Given the description of an element on the screen output the (x, y) to click on. 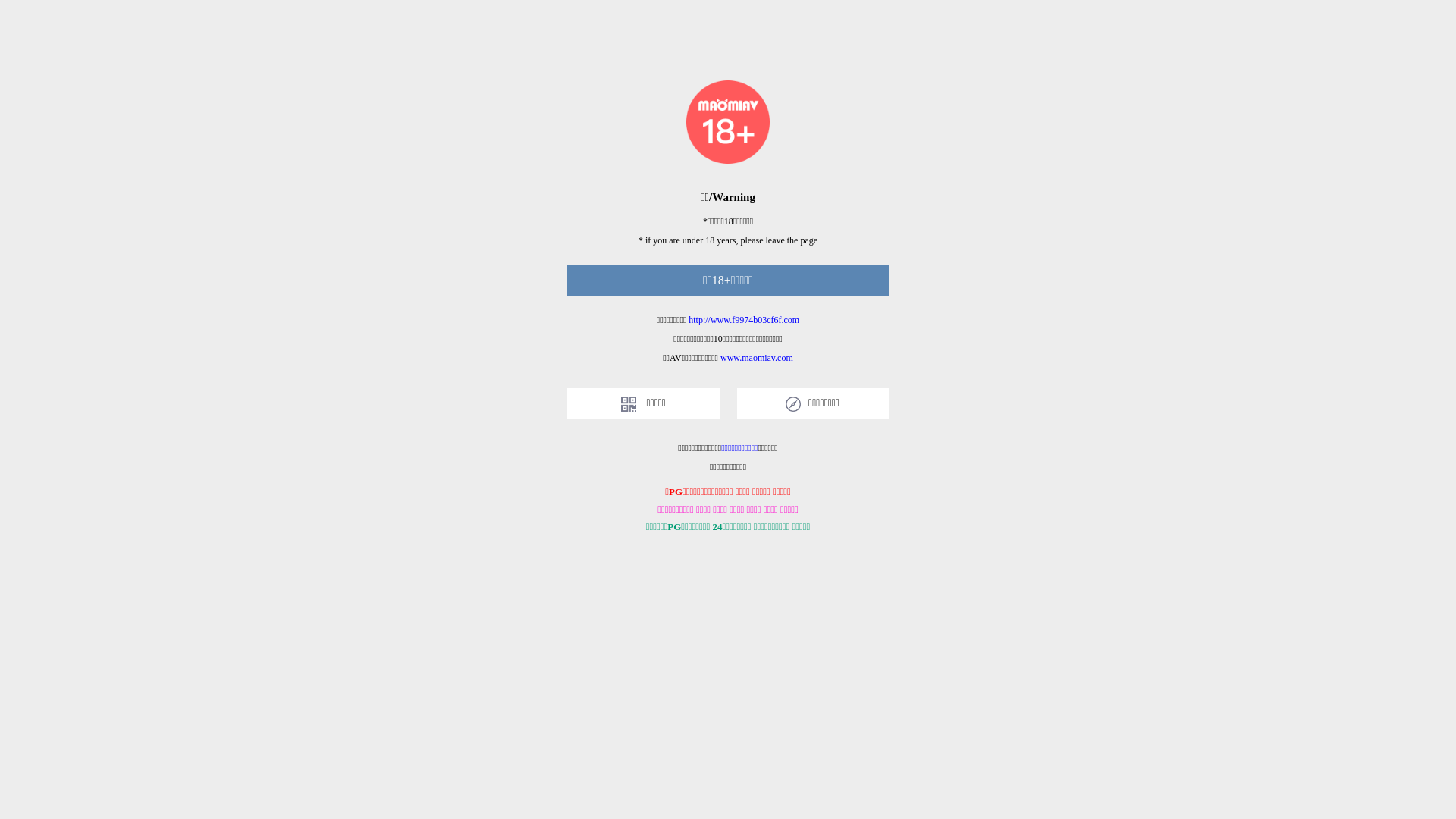
http://www.f9974b03cf6f.com Element type: text (743, 319)
www.maomiav.com Element type: text (756, 357)
